Given the description of an element on the screen output the (x, y) to click on. 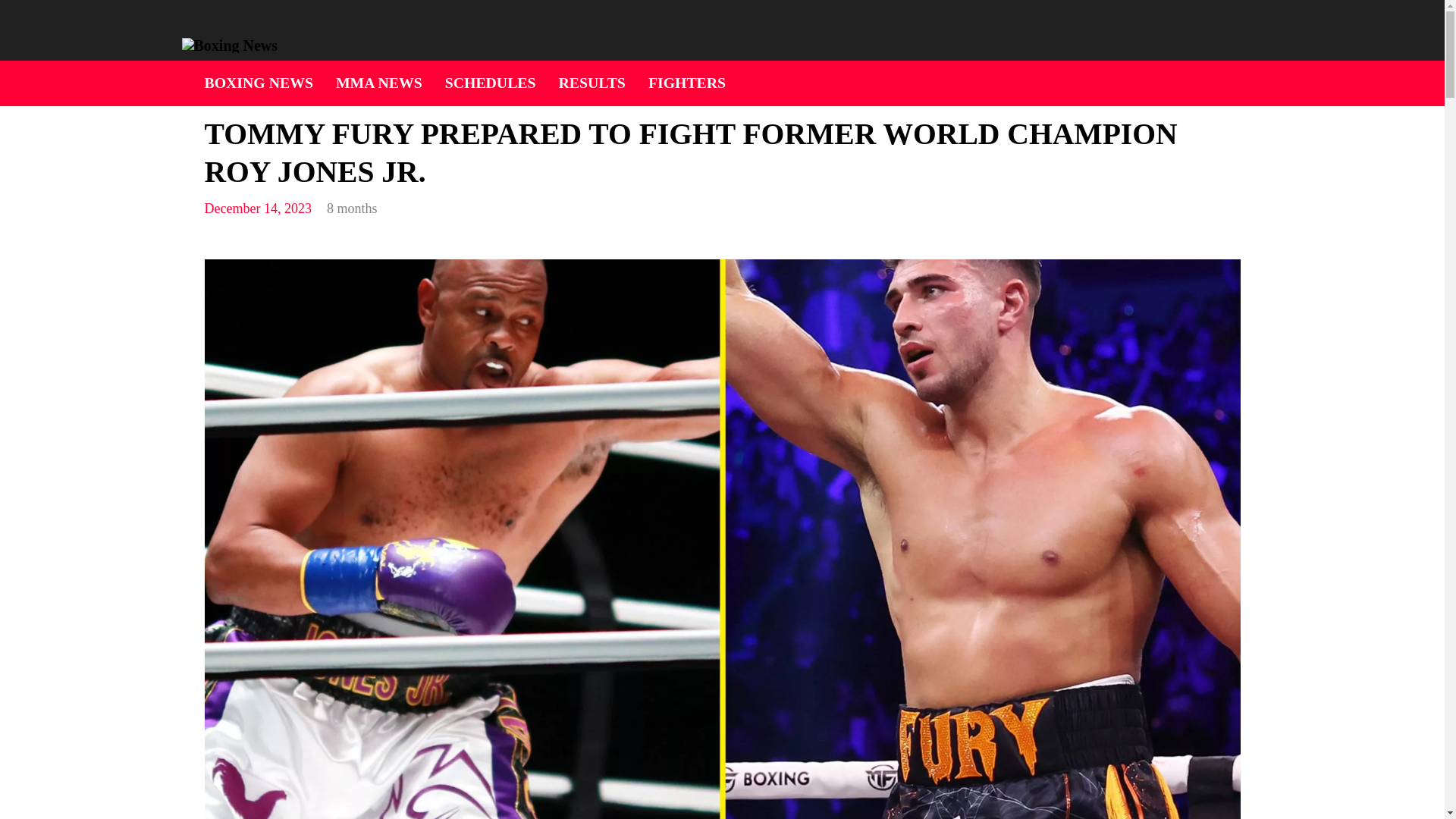
RESULTS (592, 83)
SCHEDULES (490, 83)
FIGHTERS (686, 83)
MMA NEWS (379, 83)
BOXING NEWS (259, 83)
